Given the description of an element on the screen output the (x, y) to click on. 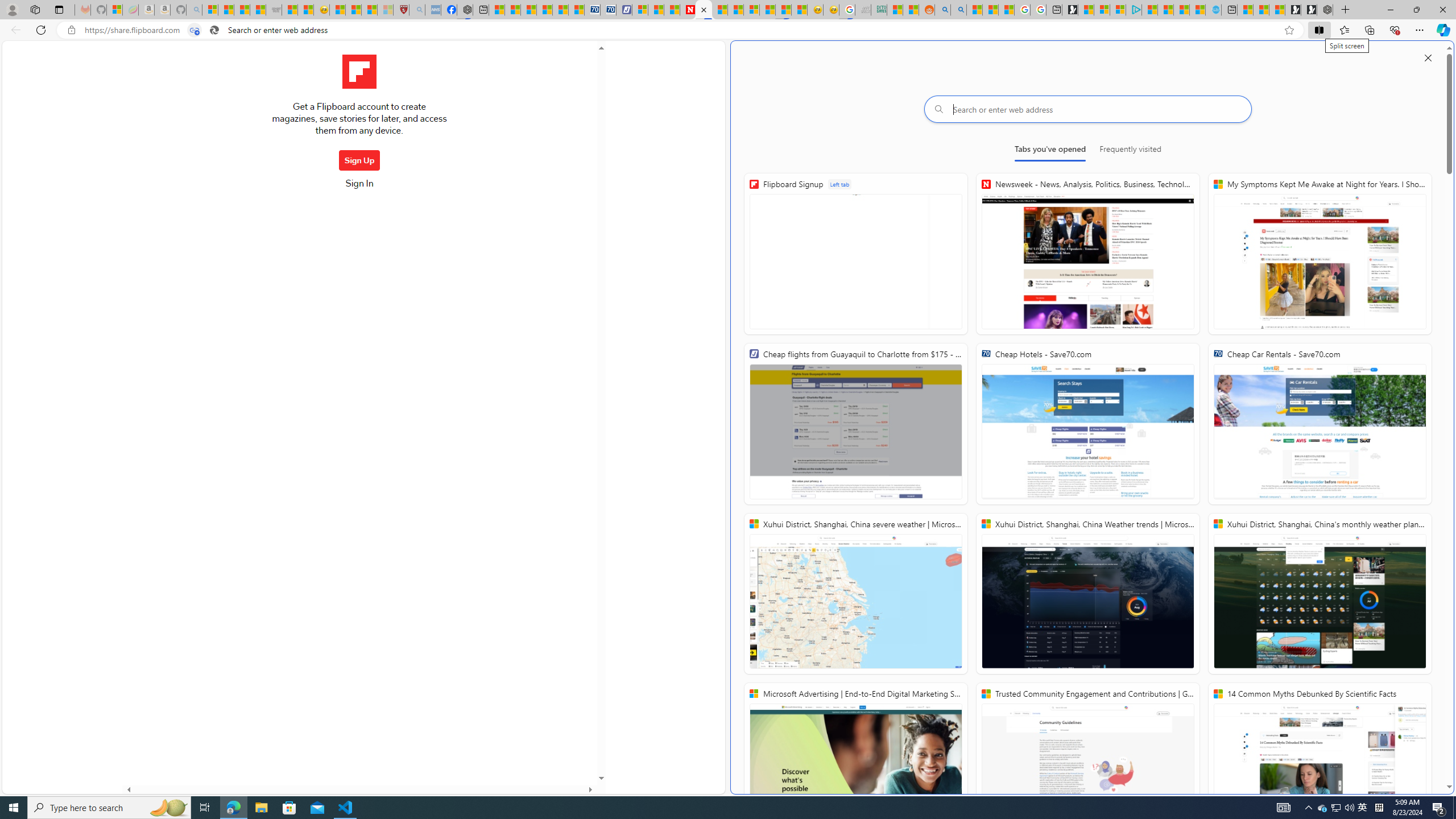
Science - MSN (368, 9)
Class: logo (359, 71)
Navy Quest (863, 9)
Trusted Community Engagement and Contributions | Guidelines (735, 9)
Cheap Car Rentals - Save70.com (592, 9)
Flipboard Signup (855, 253)
Tabs in split screen (194, 29)
